Given the description of an element on the screen output the (x, y) to click on. 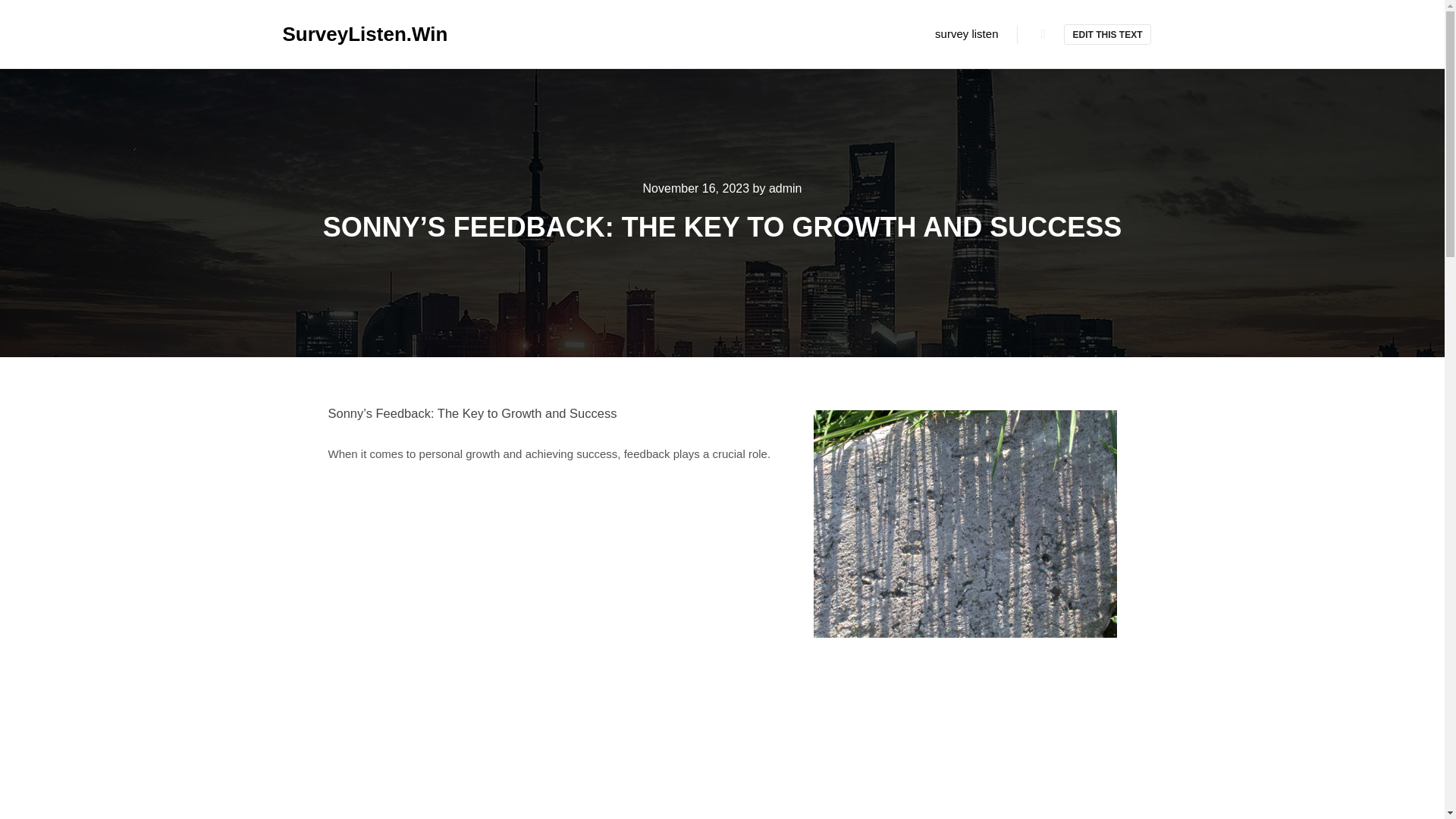
survey listen (966, 33)
admin (785, 187)
EDIT THIS TEXT (1107, 34)
SurveyListen.Win (357, 33)
View all posts by admin (785, 187)
Search (1043, 34)
Search (1043, 34)
SurveyListen.Win (357, 33)
